Given the description of an element on the screen output the (x, y) to click on. 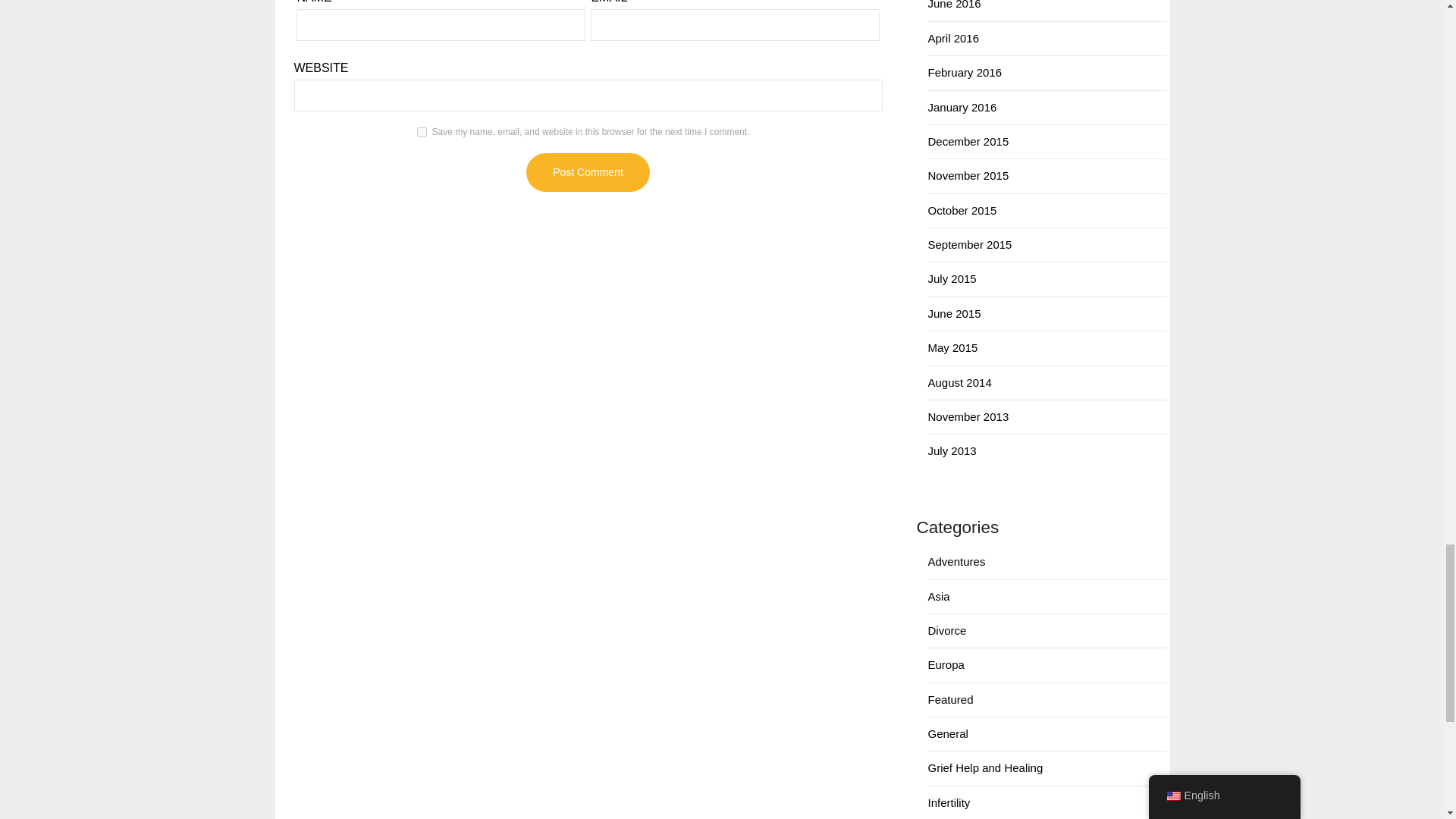
Post Comment (587, 172)
yes (421, 132)
Post Comment (587, 172)
